Given the description of an element on the screen output the (x, y) to click on. 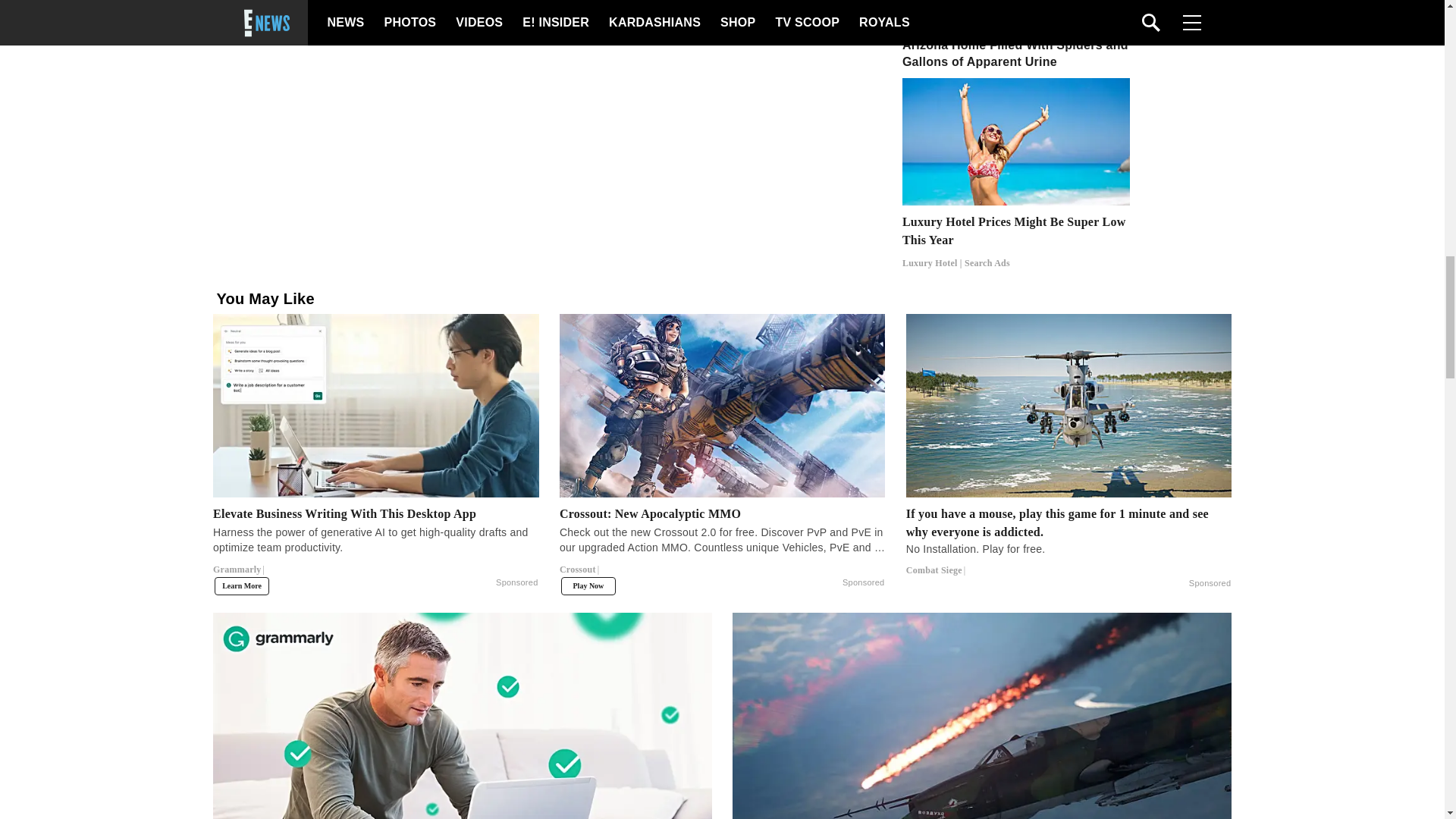
Luxury Hotel Prices Might Be Super Low This Year (1015, 241)
